Given the description of an element on the screen output the (x, y) to click on. 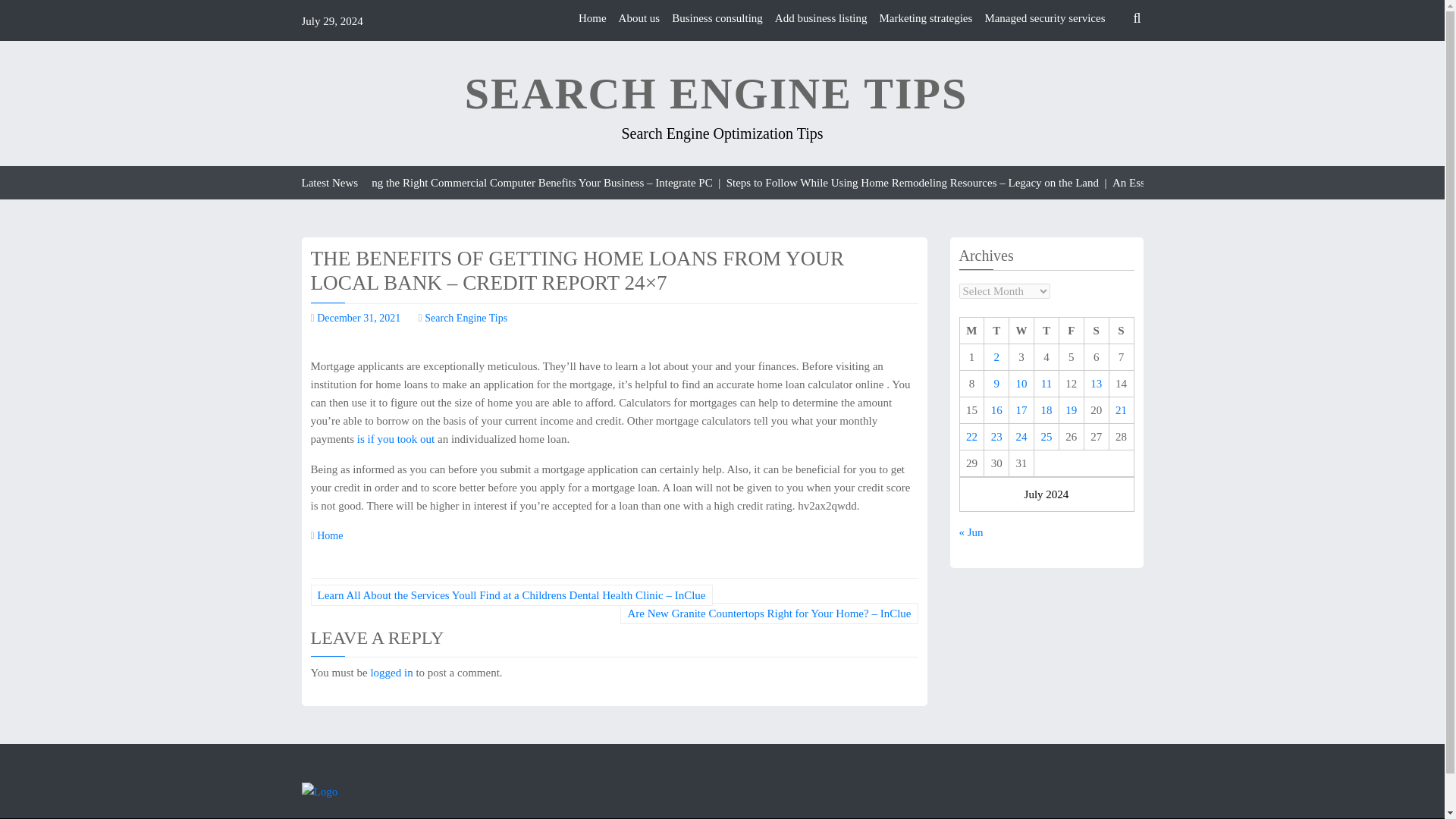
logged in (390, 672)
16 (997, 410)
Thursday (1046, 330)
21 (1120, 410)
is if you took out (395, 439)
23 (997, 436)
Friday (1070, 330)
Add business listing (820, 18)
About us (639, 18)
Home (329, 535)
25 (1046, 436)
Managed security services (1044, 18)
13 (1096, 383)
18 (1046, 410)
24 (1021, 436)
